Given the description of an element on the screen output the (x, y) to click on. 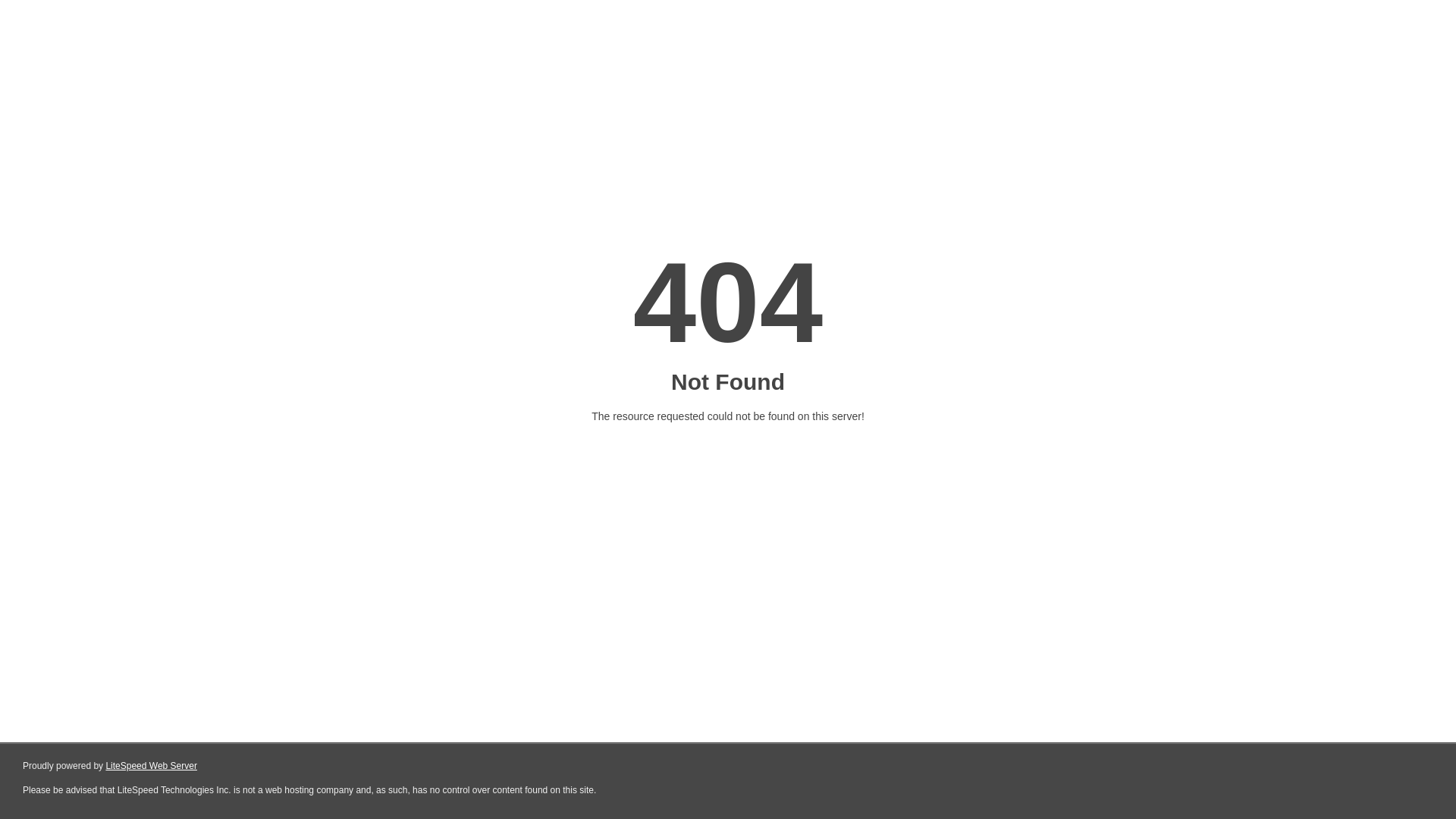
LiteSpeed Web Server Element type: text (151, 765)
